Given the description of an element on the screen output the (x, y) to click on. 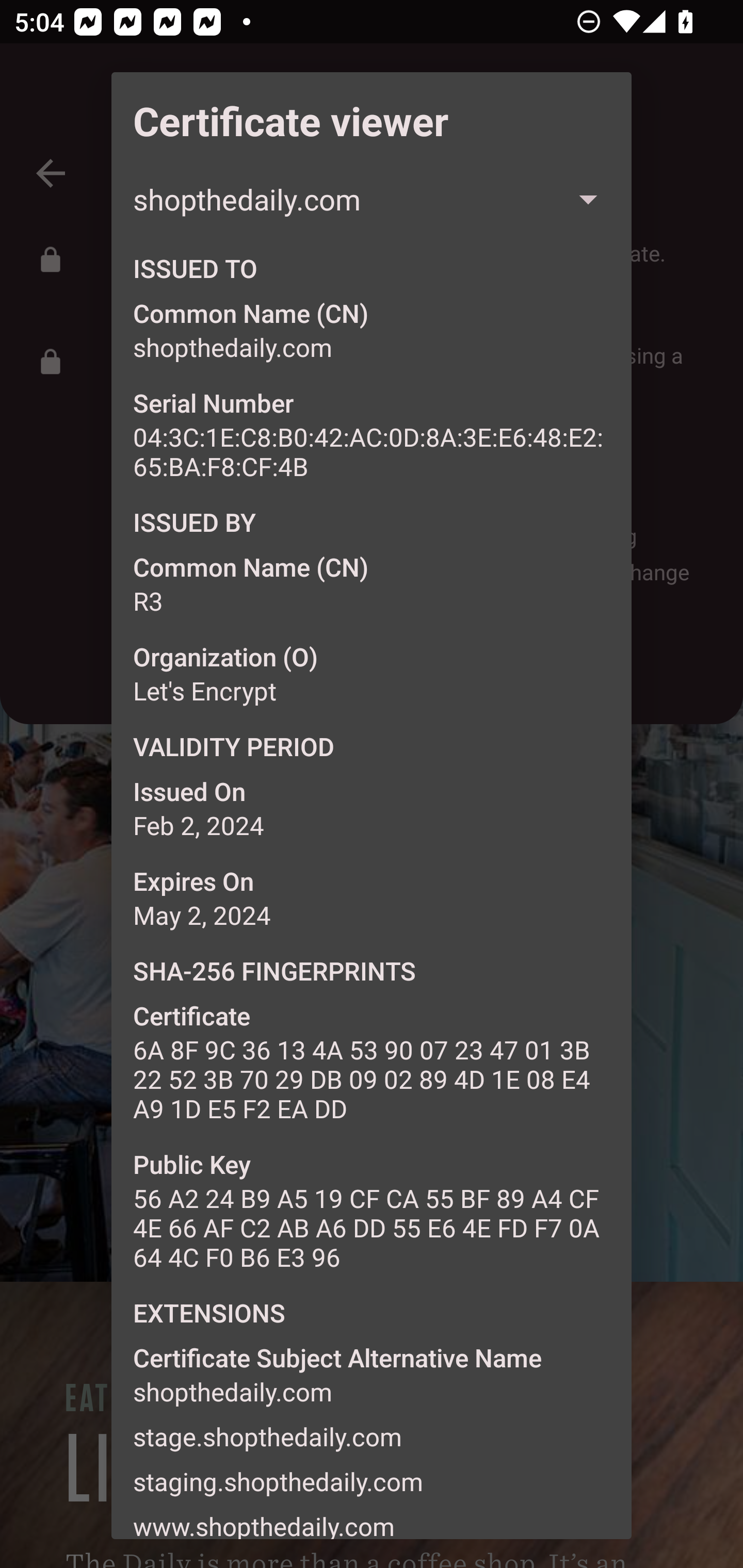
shopthedaily.com (371, 198)
